Given the description of an element on the screen output the (x, y) to click on. 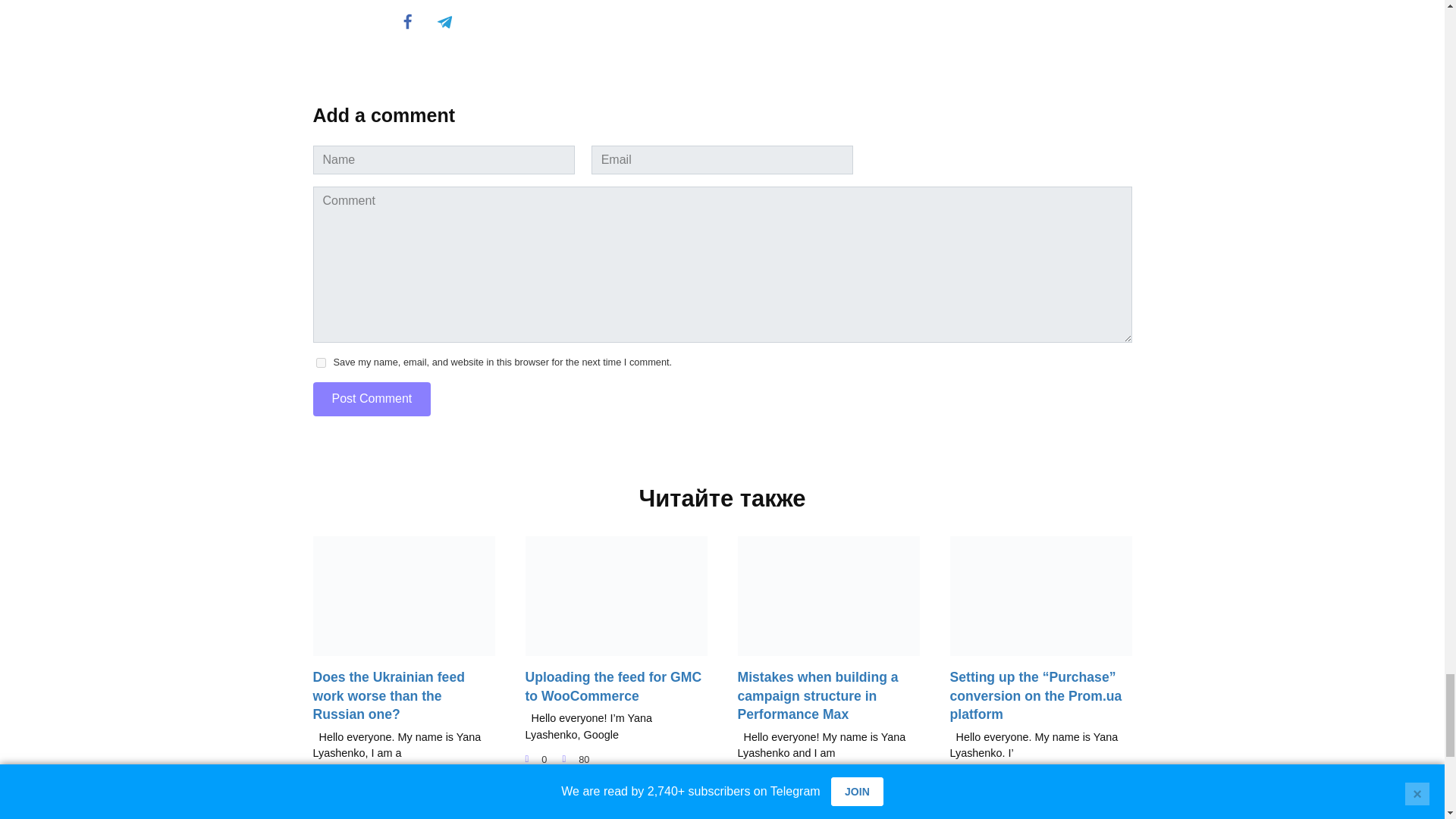
yes (319, 362)
Post Comment (371, 399)
